Given the description of an element on the screen output the (x, y) to click on. 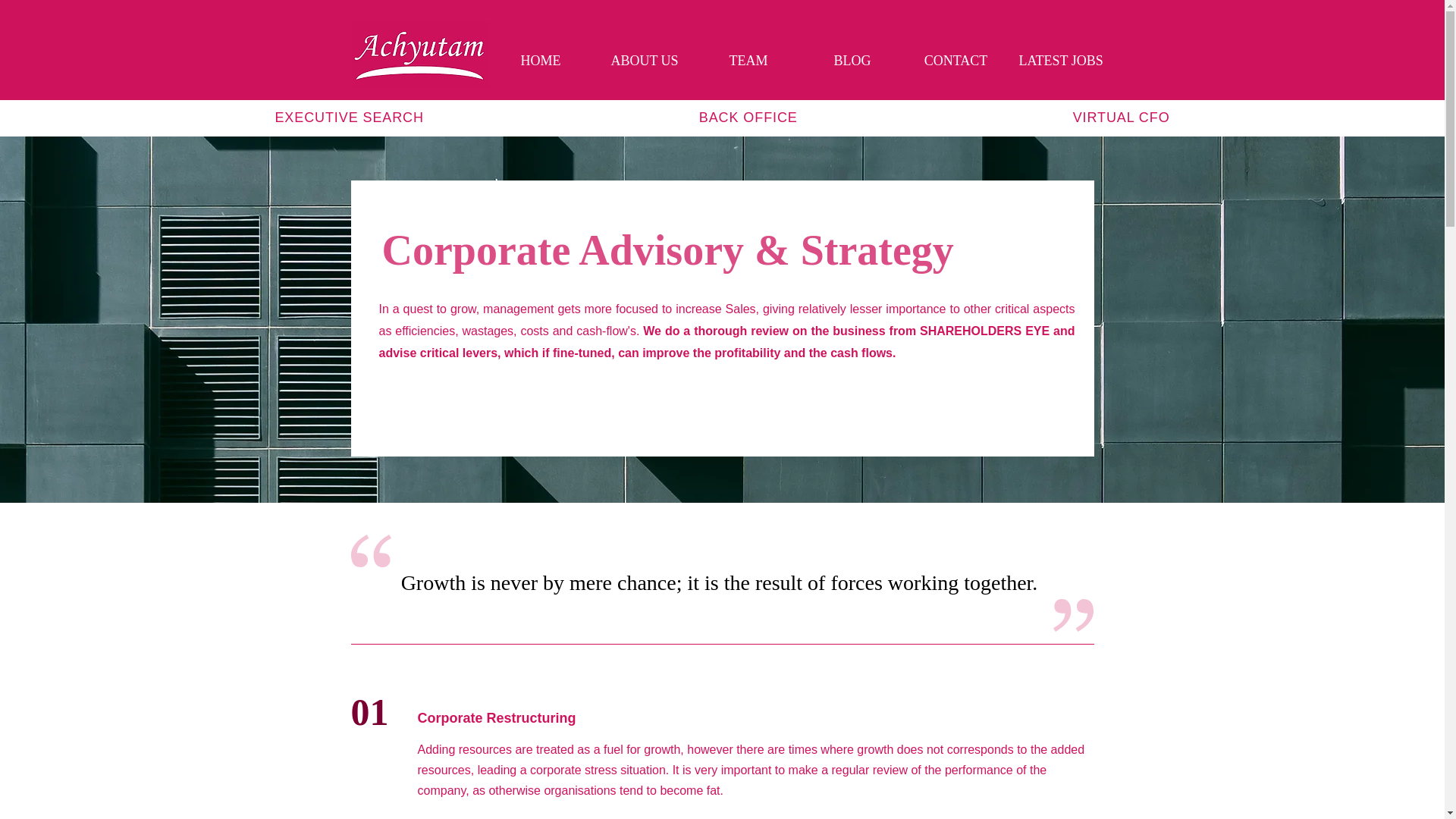
CONTACT (955, 60)
VIRTUAL CFO (1121, 117)
BLOG (852, 60)
ABOUT US (644, 60)
TEAM (747, 60)
HOME (539, 60)
EXECUTIVE SEARCH (349, 117)
LATEST JOBS (1058, 60)
BACK OFFICE (747, 117)
